Given the description of an element on the screen output the (x, y) to click on. 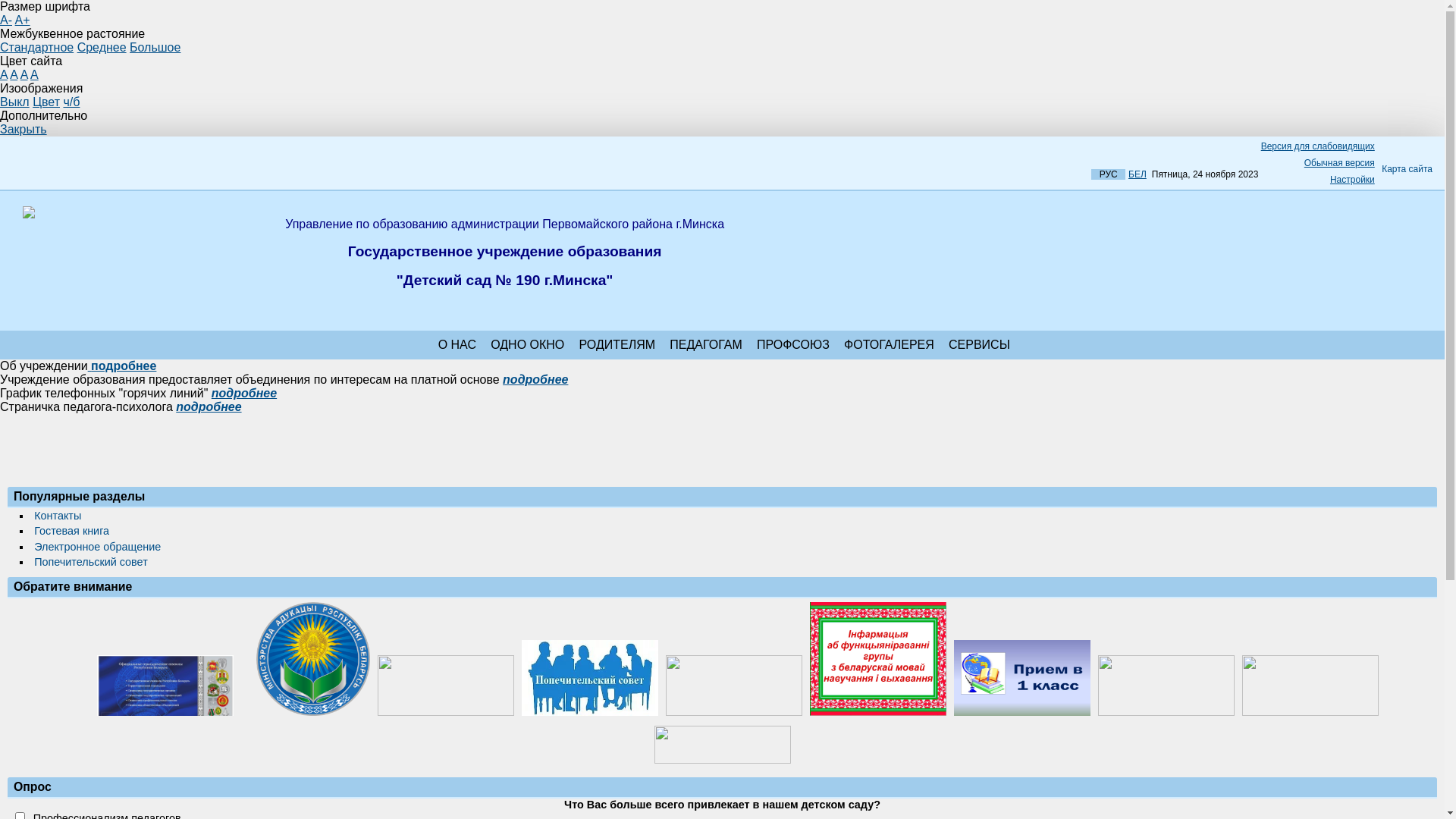
A+ Element type: text (22, 19)
A Element type: text (24, 74)
A Element type: text (34, 74)
A- Element type: text (6, 19)
A Element type: text (3, 74)
A Element type: text (13, 74)
